Given the description of an element on the screen output the (x, y) to click on. 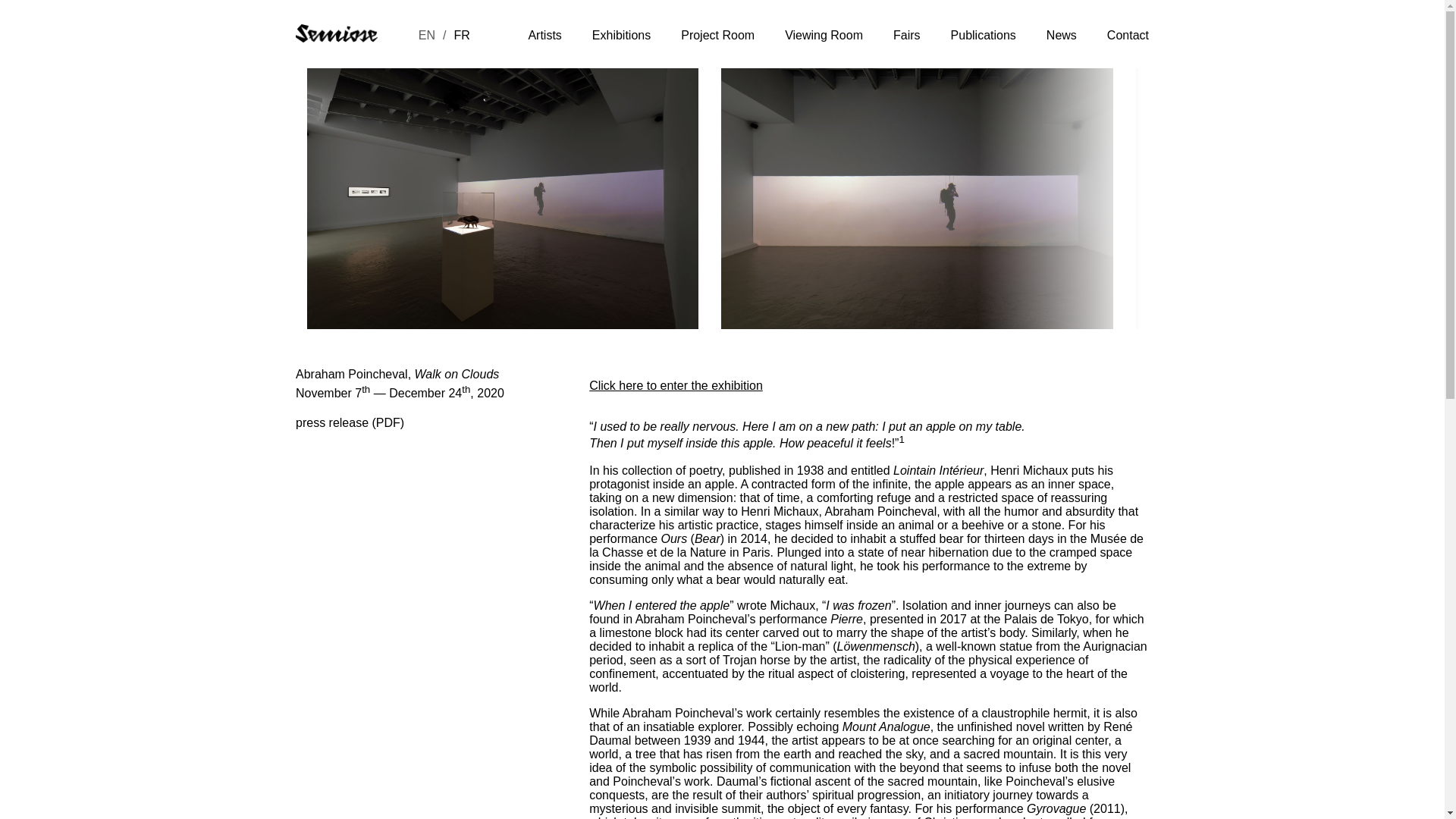
Artists (543, 34)
FR (460, 34)
Project Room (717, 34)
Exhibitions (621, 34)
Click here to enter the exhibition (675, 385)
